Given the description of an element on the screen output the (x, y) to click on. 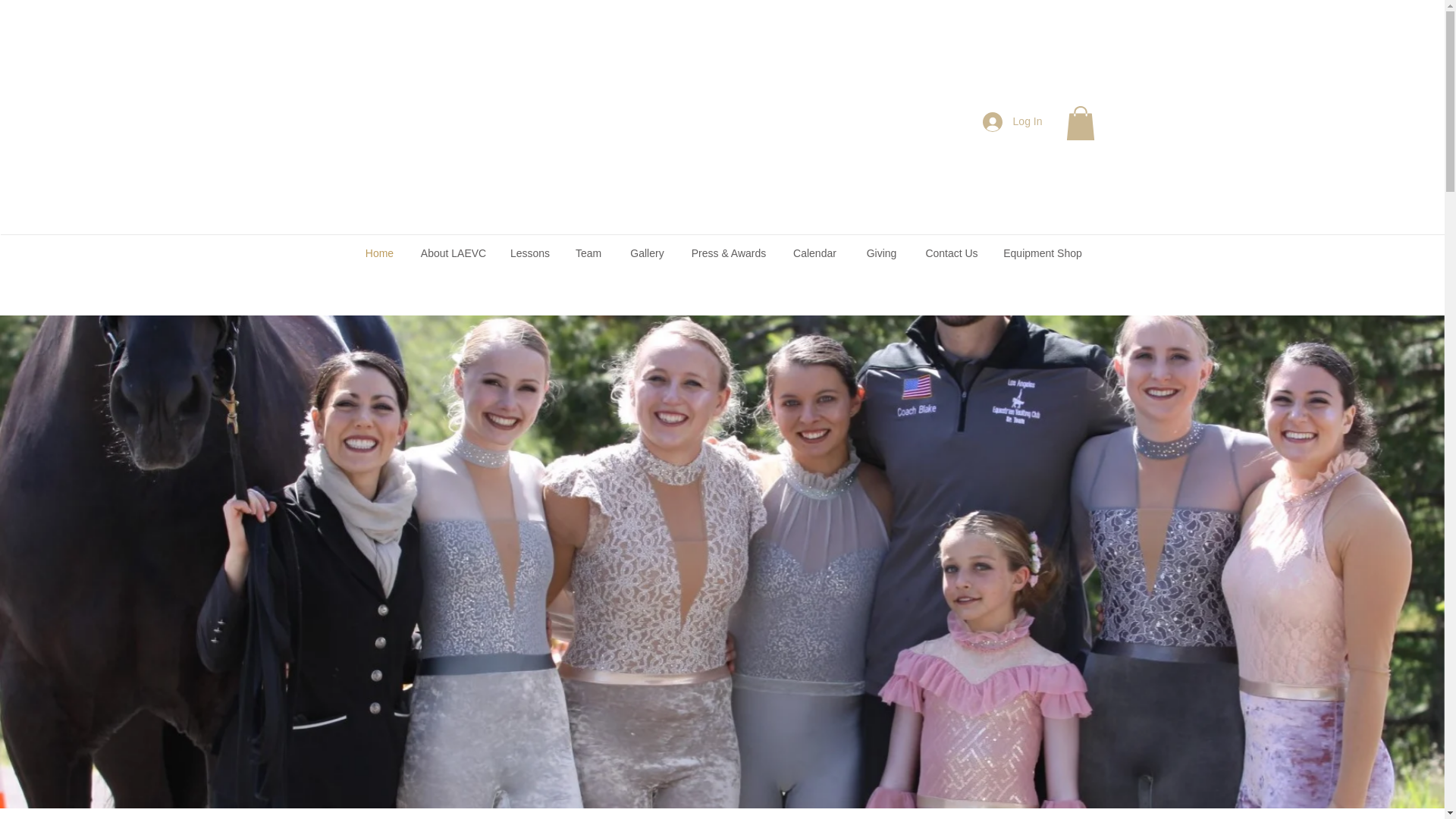
Gallery (647, 253)
Log In (1012, 121)
Lessons (530, 253)
Home (378, 253)
Contact Us (951, 253)
Calendar (813, 253)
About LAEVC (452, 253)
Equipment Shop (1042, 253)
Team (587, 253)
Giving (880, 253)
